Given the description of an element on the screen output the (x, y) to click on. 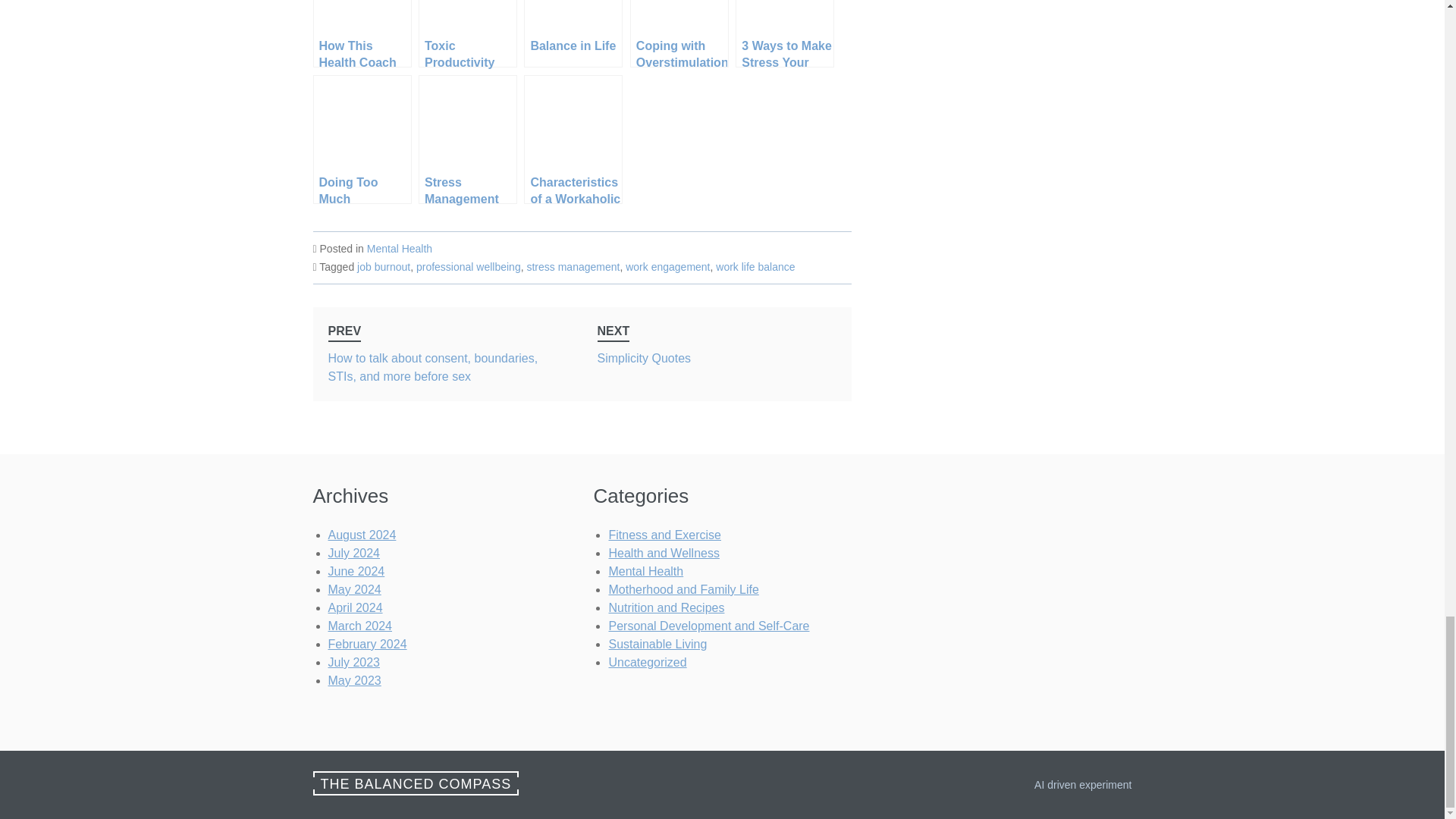
Toxic Productivity (467, 33)
Balance in Life (573, 33)
3 Ways to Make Stress Your Friend (784, 33)
Mental Health (399, 248)
Coping with Overstimulation (716, 354)
stress management (679, 33)
professional wellbeing (572, 266)
How This Health Coach Stays Disciplined to Achieve Her Goals (468, 266)
Coping with Overstimulation (361, 33)
